Given the description of an element on the screen output the (x, y) to click on. 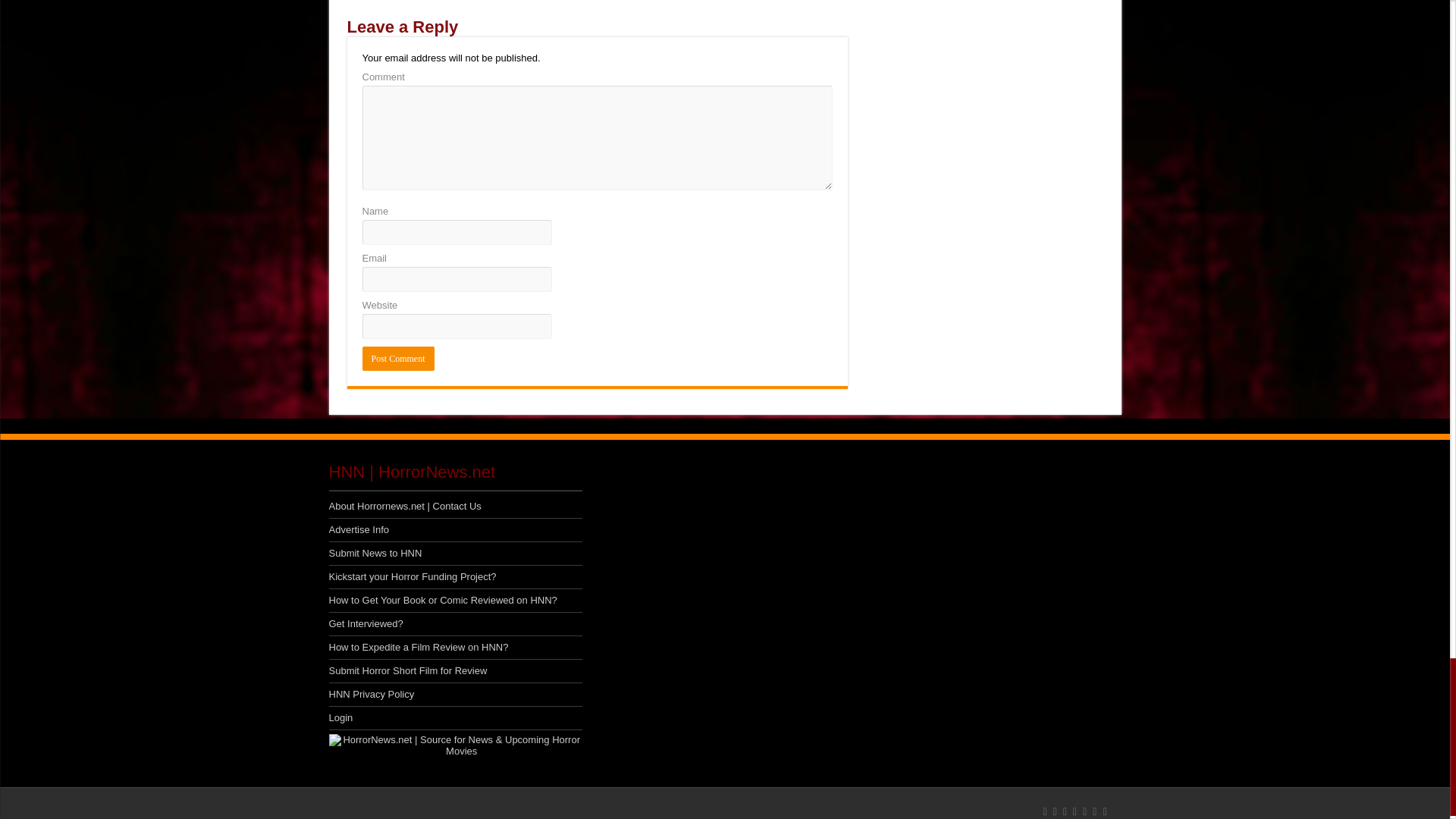
Post Comment (397, 358)
